Given the description of an element on the screen output the (x, y) to click on. 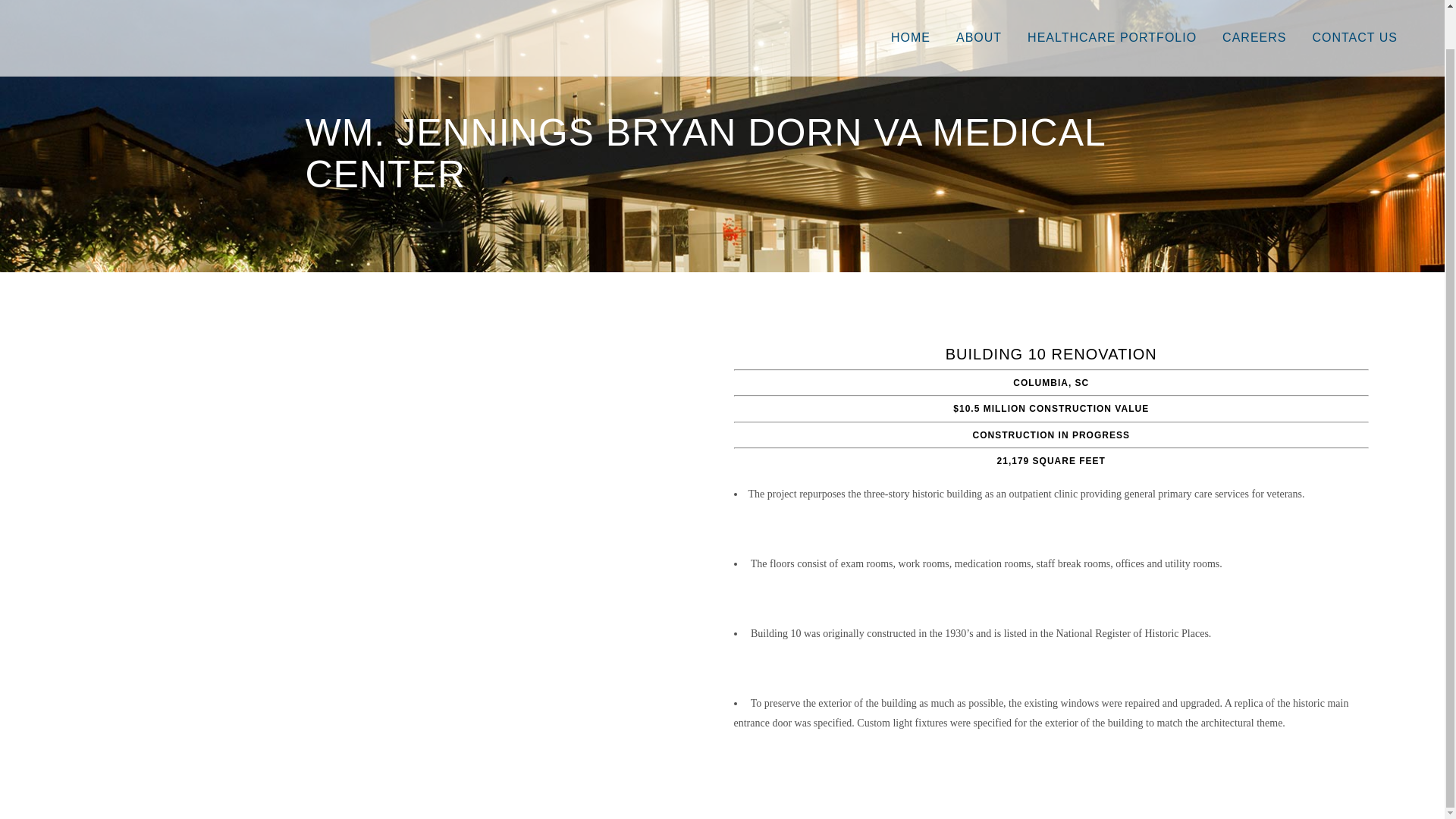
CAREERS (1253, 17)
CONTACT US (1354, 17)
HEALTHCARE PORTFOLIO (1111, 17)
ABOUT (978, 17)
HOME (910, 17)
